Given the description of an element on the screen output the (x, y) to click on. 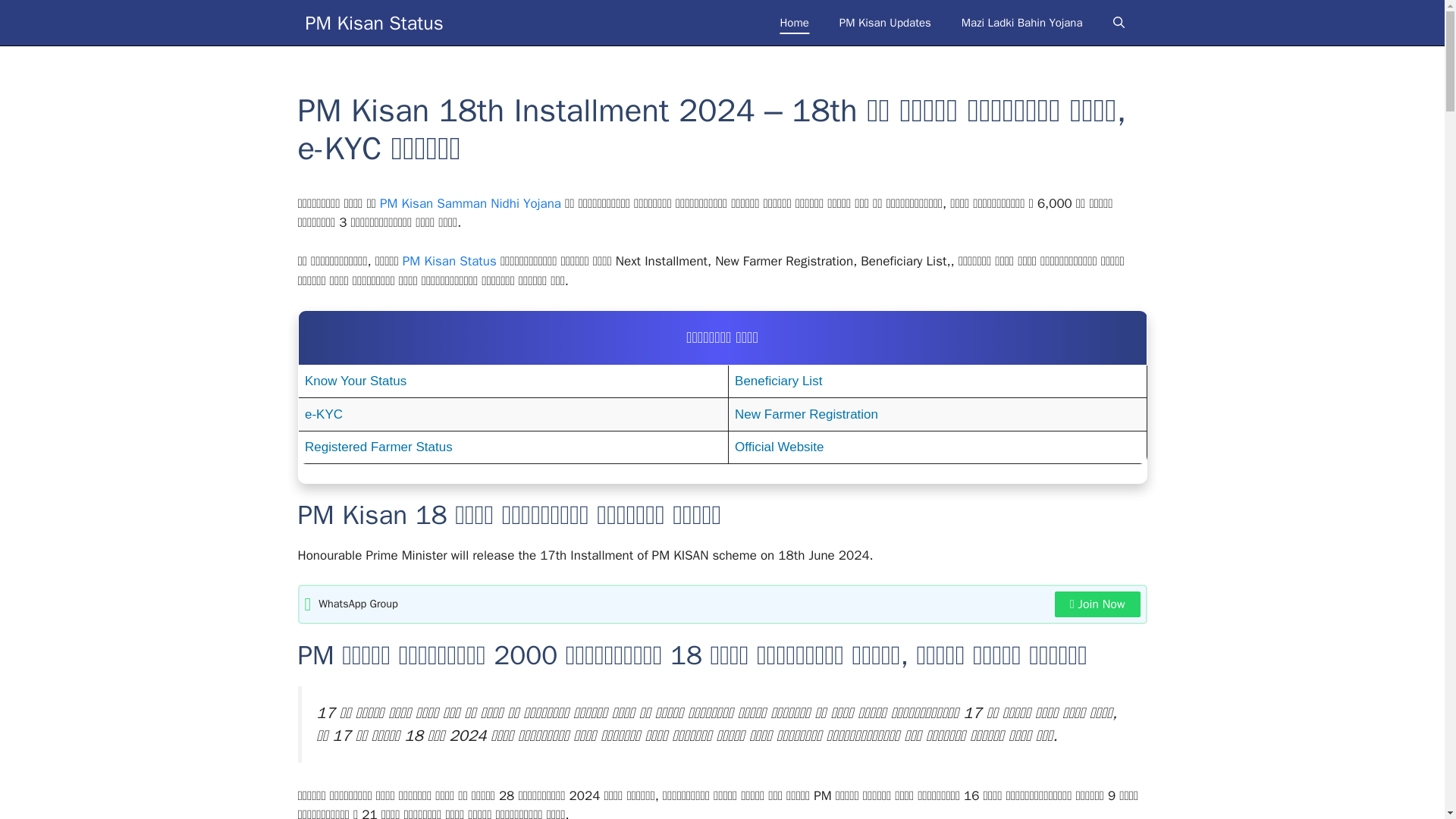
PM Kisan Samman Nidhi Yojana (470, 203)
Beneficiary List (937, 381)
PM Kisan Status (449, 261)
Registered Farmer Status (512, 447)
Know Your Status (512, 381)
PM Kisan Status (373, 22)
New Farmer Registration (937, 414)
Home (794, 22)
PM Kisan Updates (885, 22)
Join Now (1097, 604)
Official Website (937, 447)
e-KYC (512, 414)
Mazi Ladki Bahin Yojana (1021, 22)
